Given the description of an element on the screen output the (x, y) to click on. 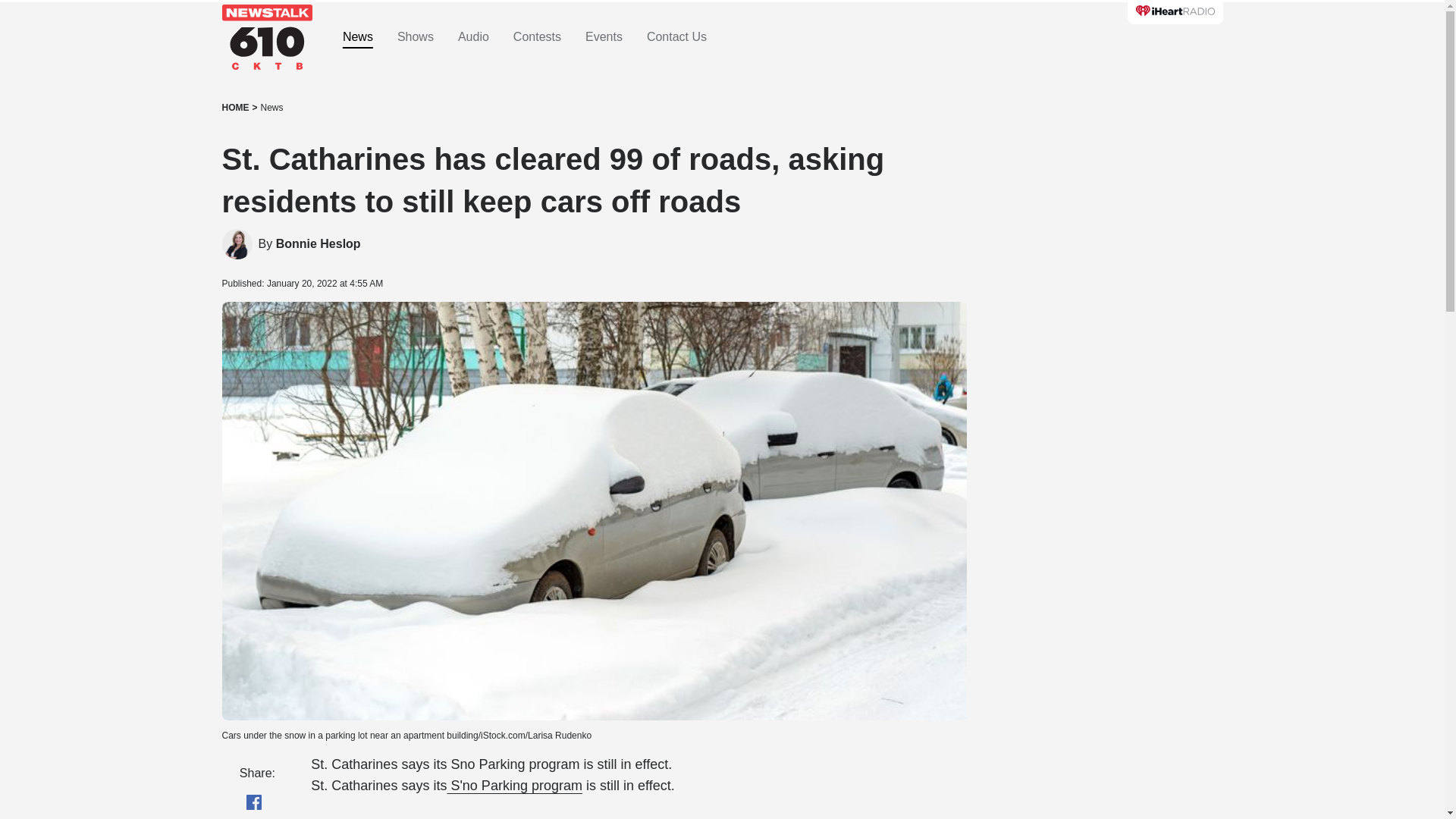
News (271, 107)
Bonnie Heslop (318, 243)
Bonnie  Heslop (318, 243)
S'no Parking program (514, 785)
HOME (234, 107)
Contests (536, 37)
Contact Us (676, 37)
Bonnie  Heslop (236, 244)
